Given the description of an element on the screen output the (x, y) to click on. 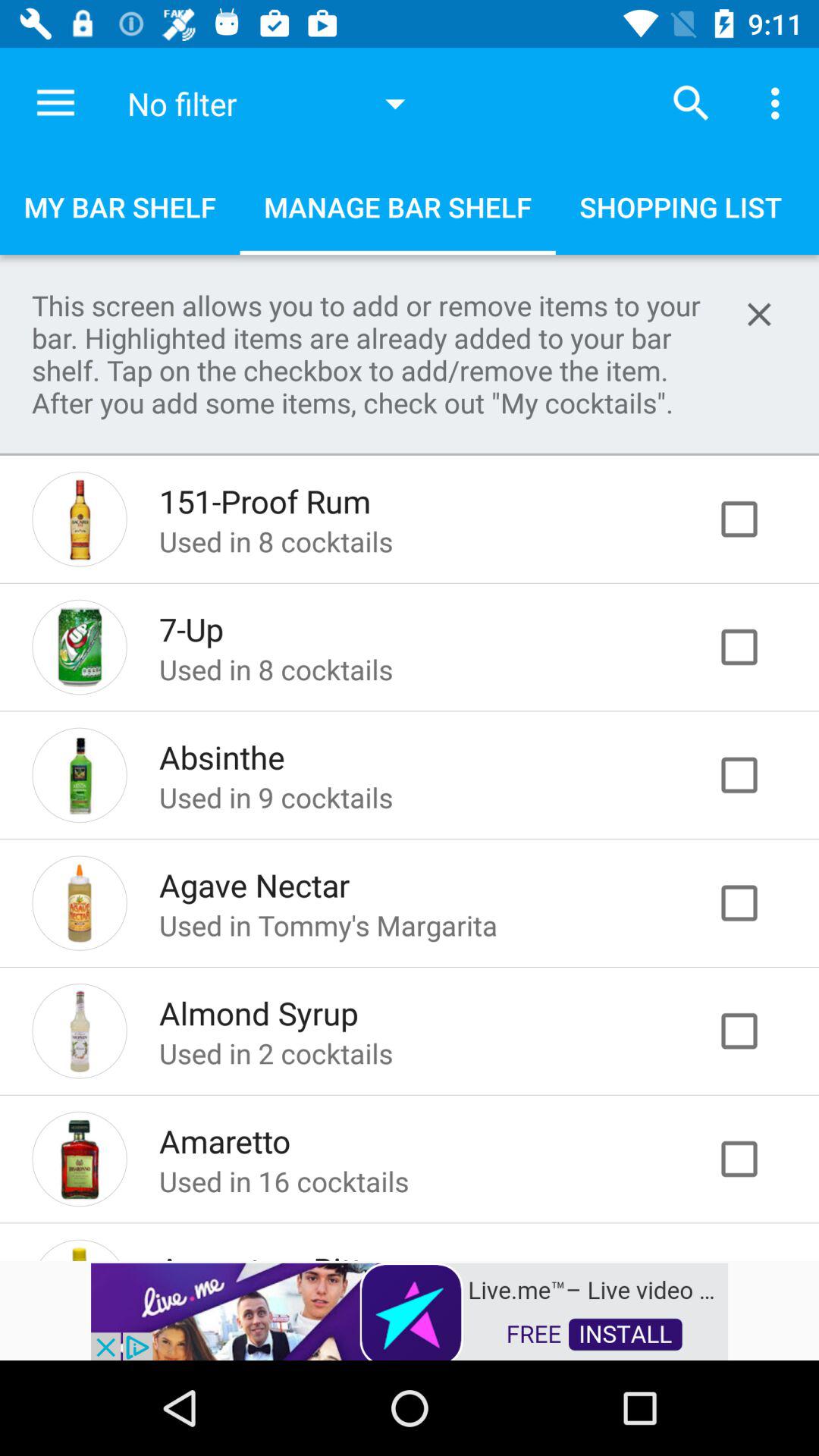
add item to bar (755, 902)
